Given the description of an element on the screen output the (x, y) to click on. 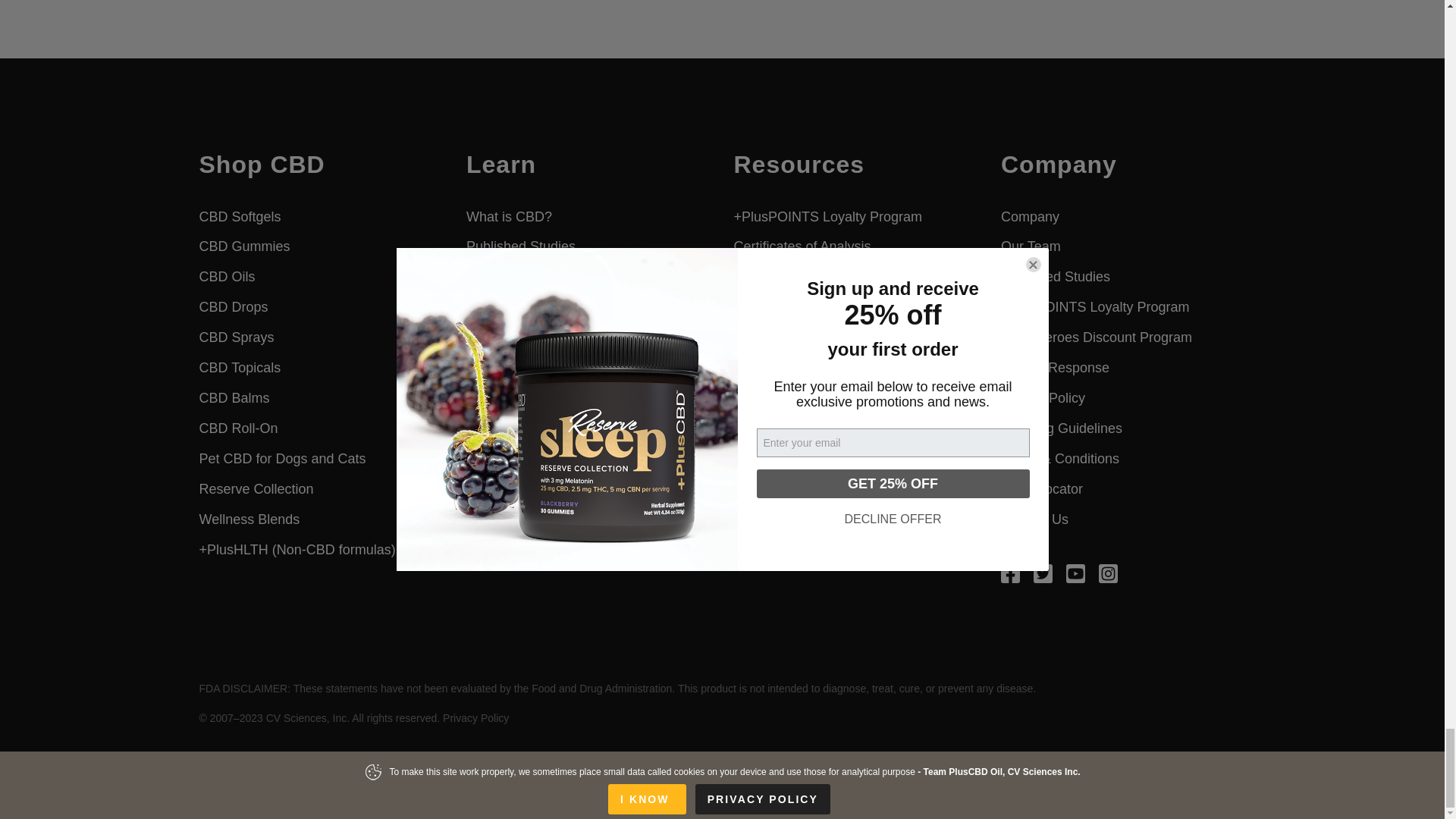
Youtube (1074, 572)
Twitter (1042, 572)
Facebook (1010, 572)
Instagram (1108, 572)
